Given the description of an element on the screen output the (x, y) to click on. 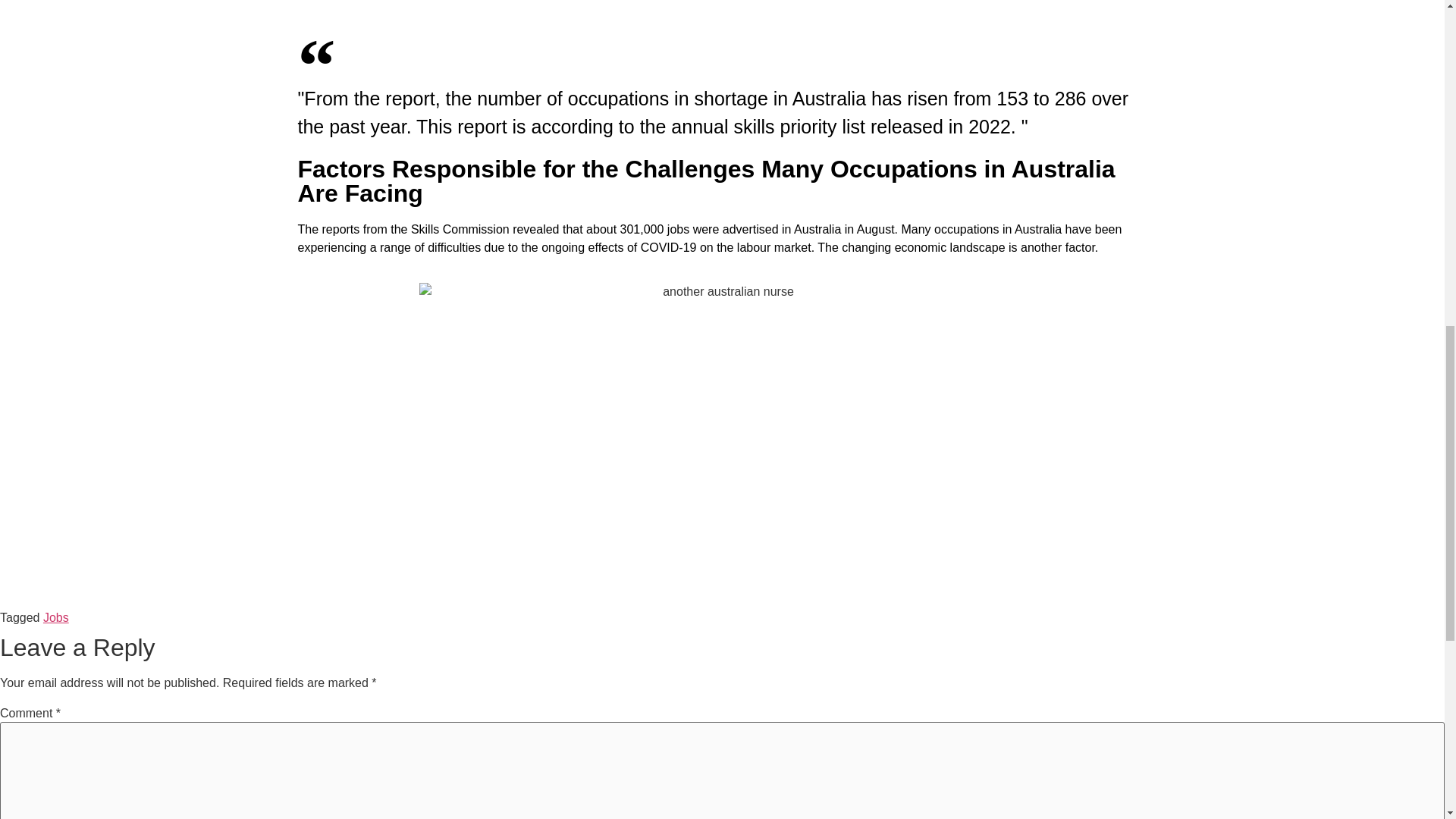
Jobs (55, 617)
